Given the description of an element on the screen output the (x, y) to click on. 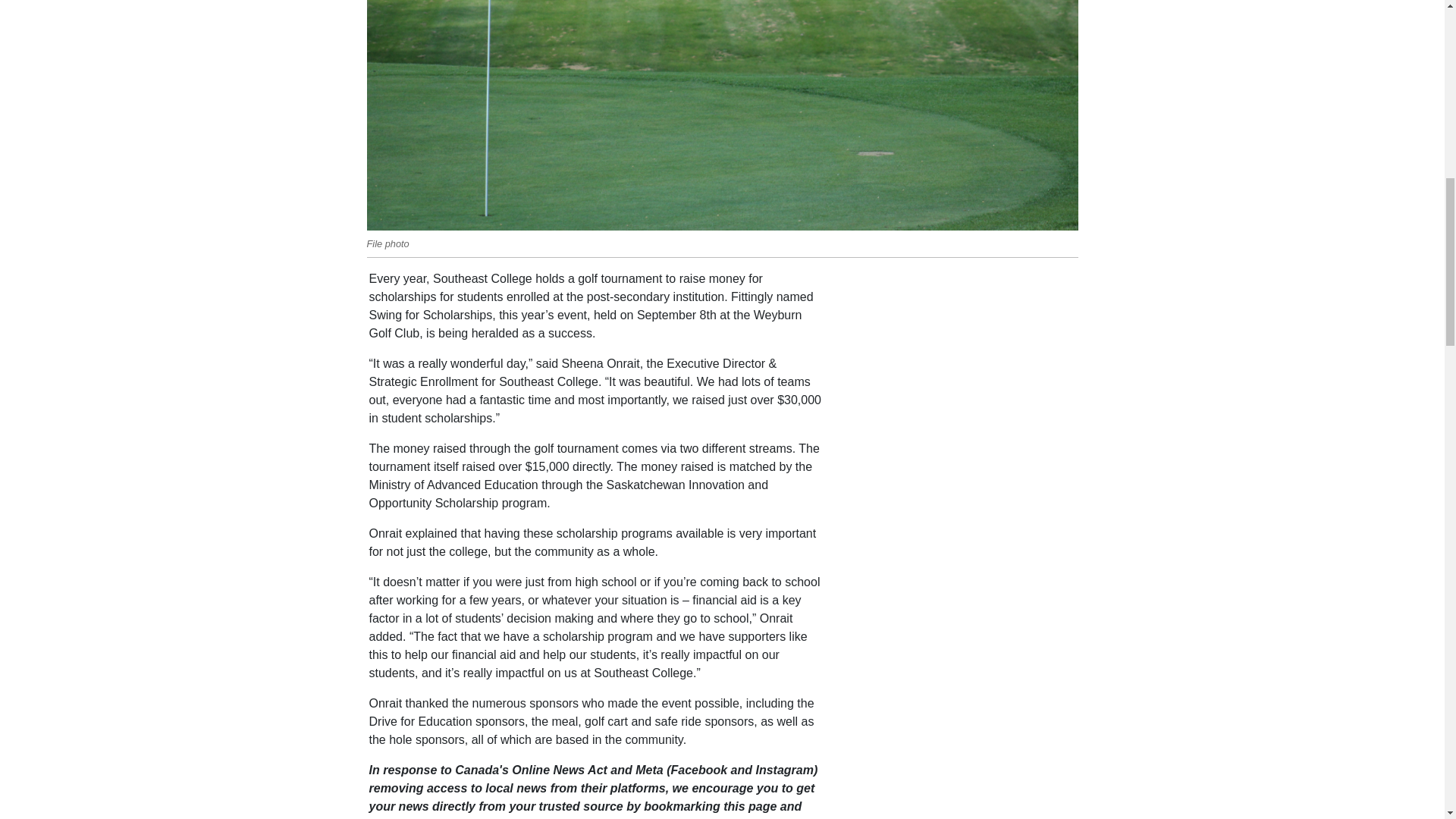
3rd party ad content (961, 557)
3rd party ad content (961, 737)
3rd party ad content (961, 364)
